Given the description of an element on the screen output the (x, y) to click on. 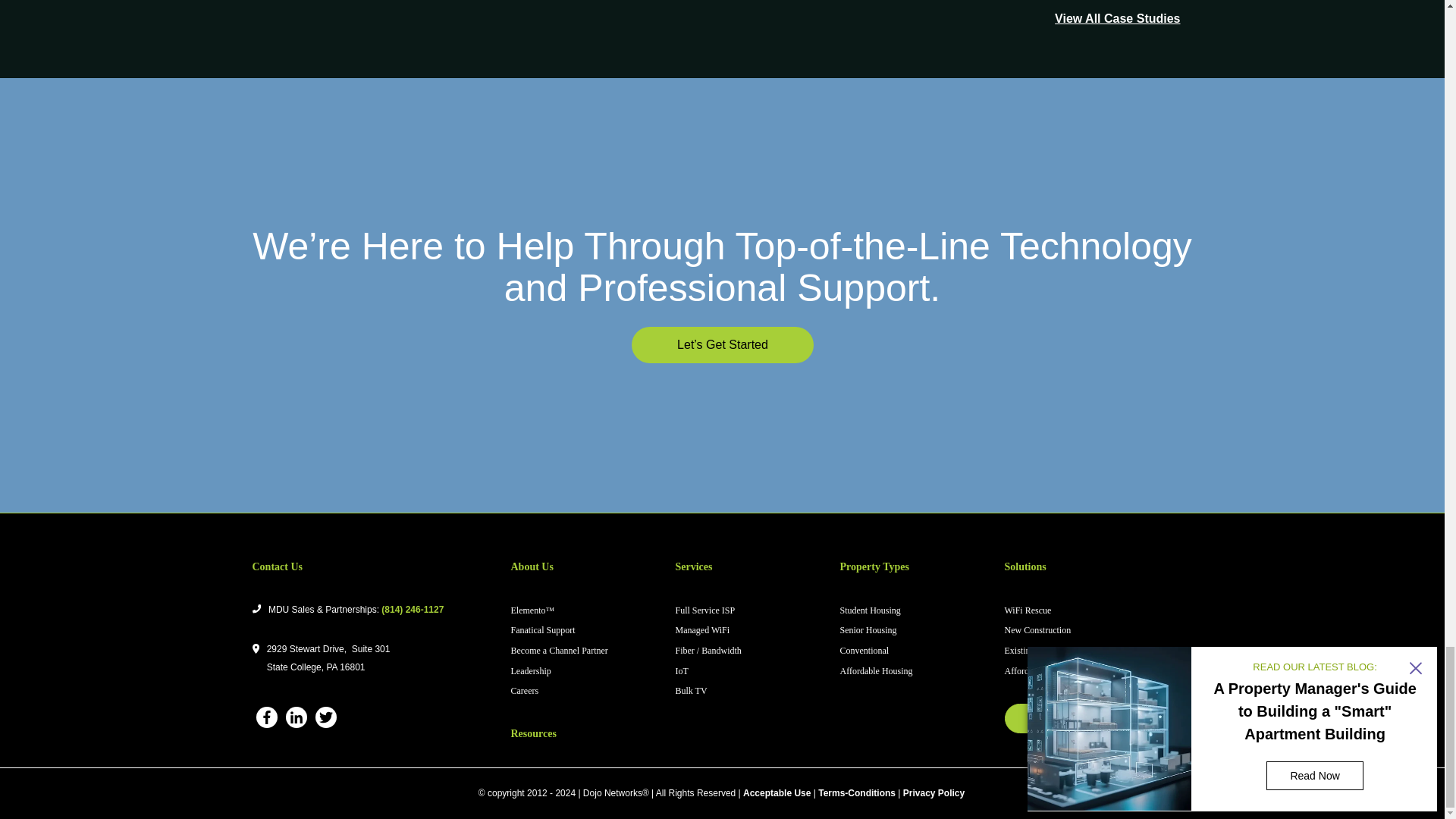
Embedded CTA (721, 345)
